Given the description of an element on the screen output the (x, y) to click on. 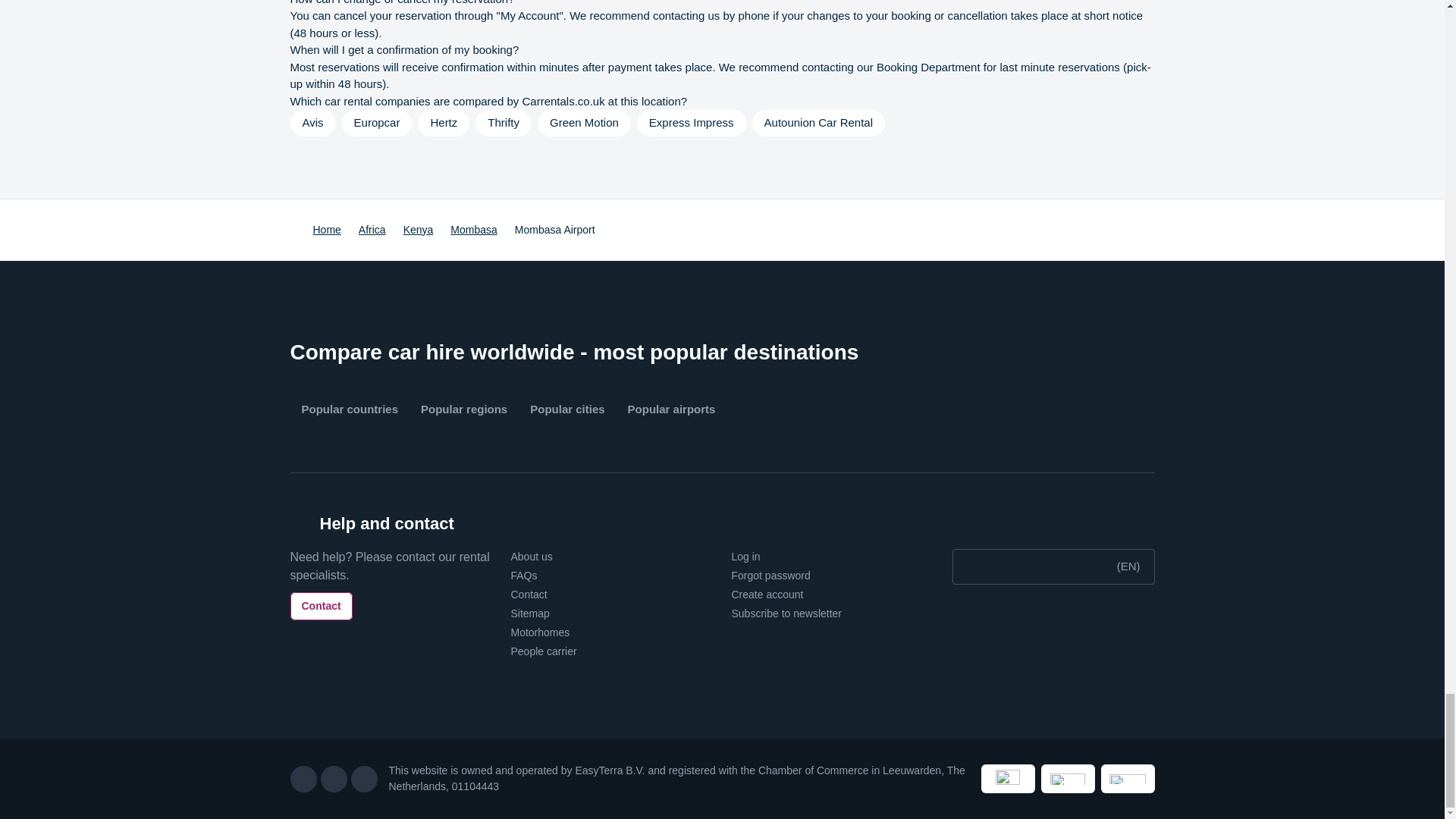
Mombasa (472, 229)
Home (326, 229)
Kenya (418, 229)
Africa (371, 229)
